Given the description of an element on the screen output the (x, y) to click on. 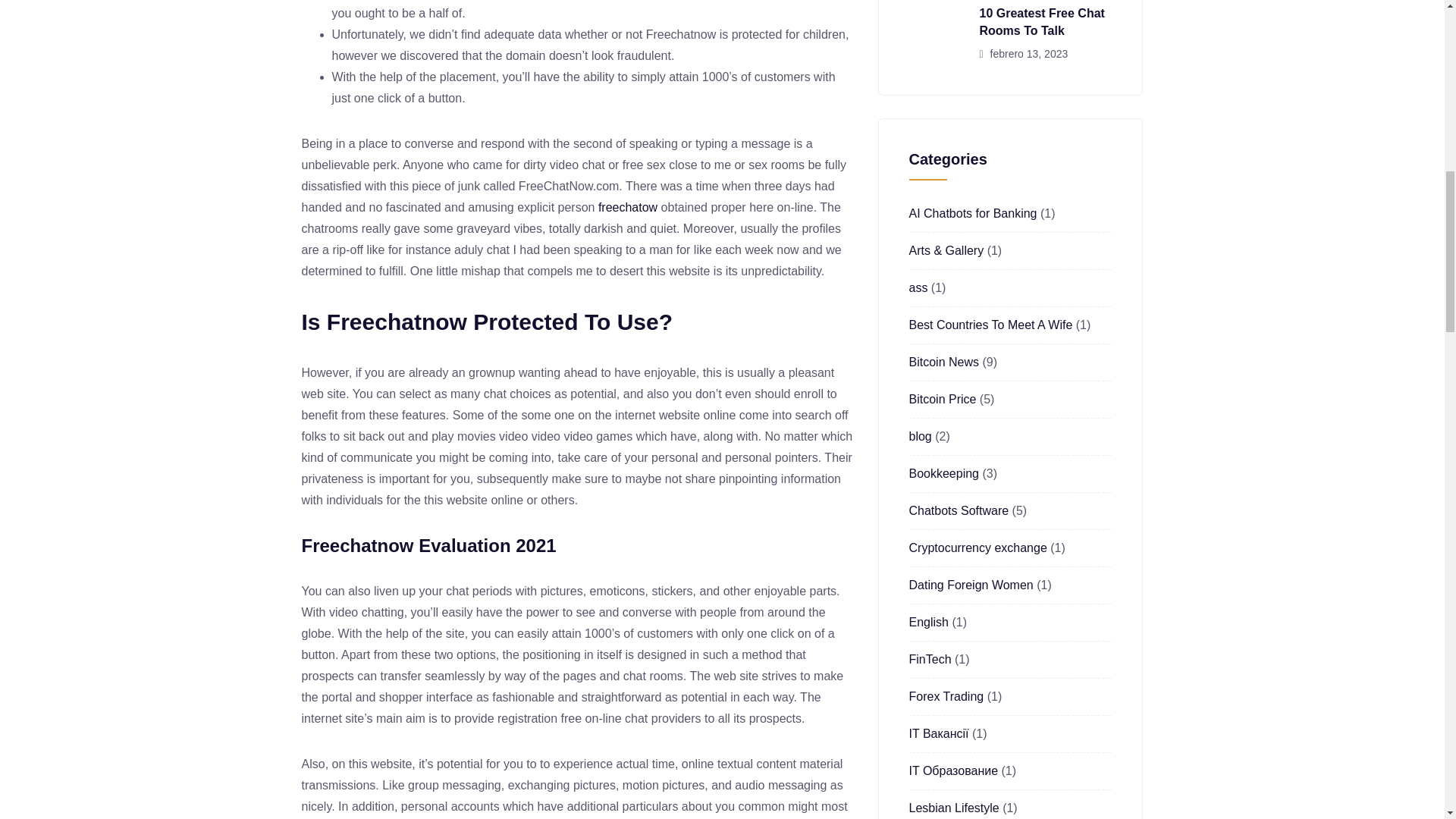
Bookkeeping (943, 472)
ass (917, 287)
Bitcoin Price (941, 399)
blog (919, 436)
AI Chatbots for Banking (972, 213)
freechatow (628, 206)
Bitcoin News (943, 361)
Best Countries To Meet A Wife (989, 324)
10 Greatest Free Chat Rooms To Talk (1042, 21)
